Given the description of an element on the screen output the (x, y) to click on. 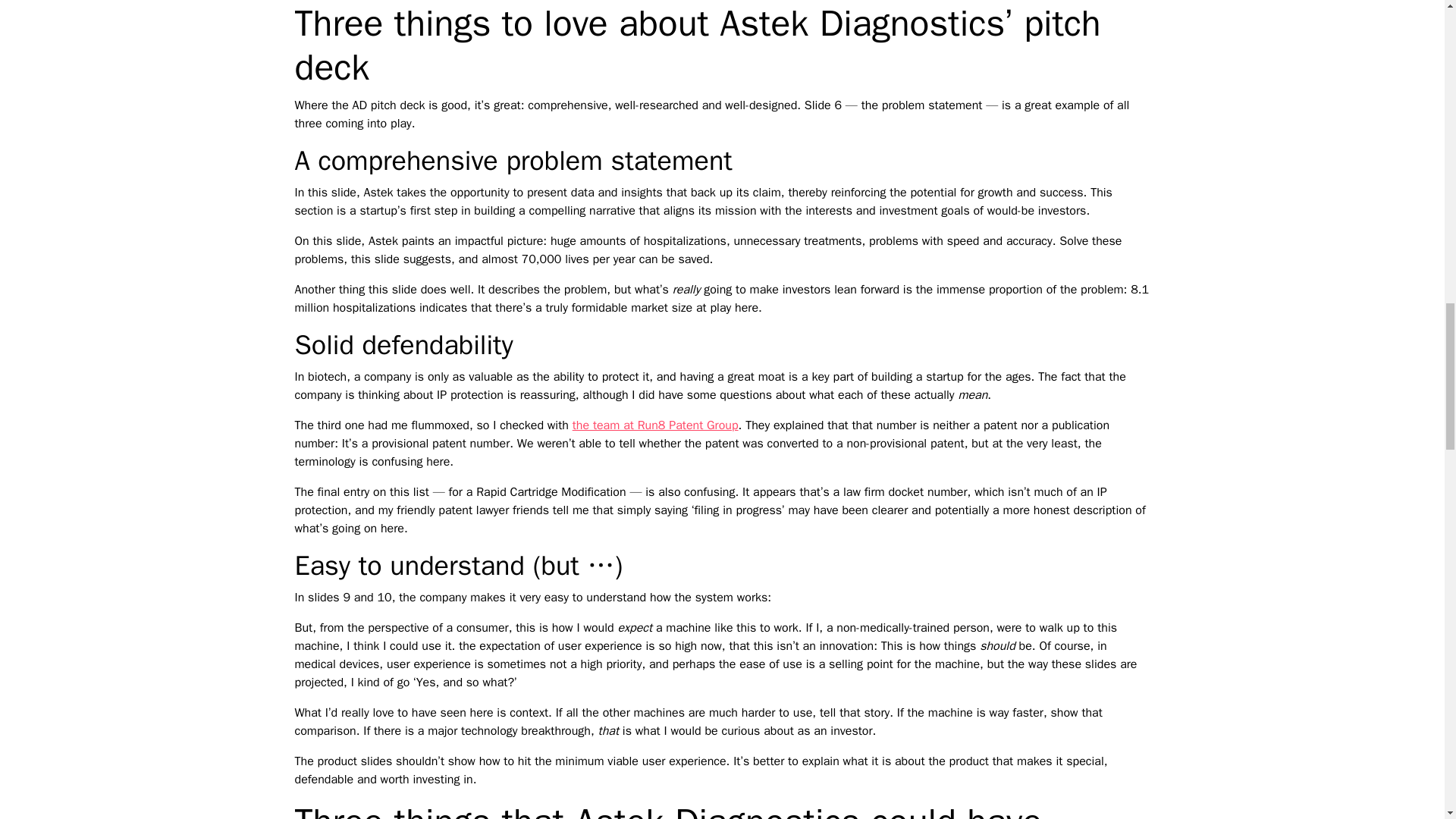
the team at Run8 Patent Group (655, 425)
